Given the description of an element on the screen output the (x, y) to click on. 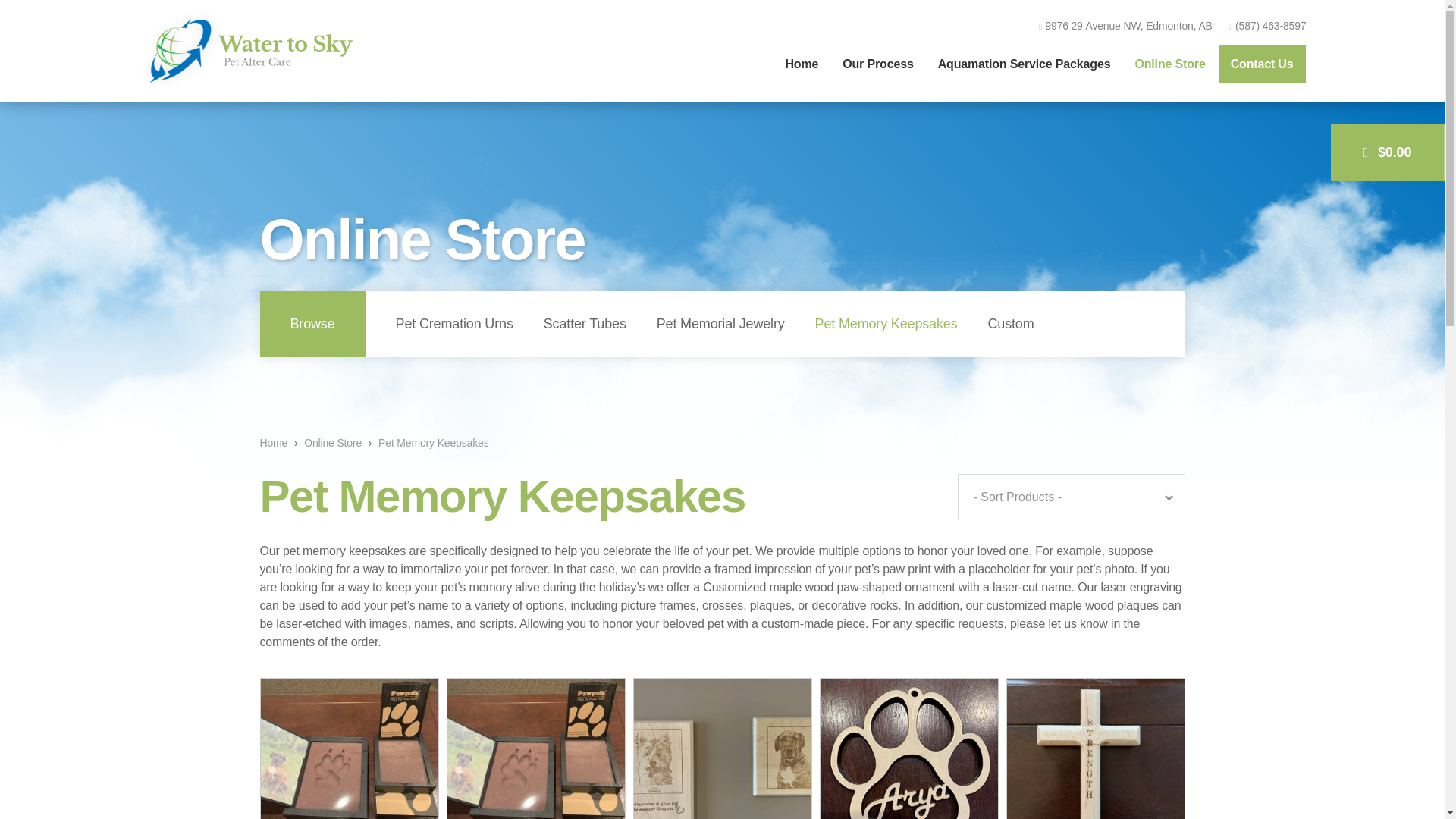
Pet Cremation Urns (454, 323)
Contact Us (1262, 64)
Pet Memory Keepsakes (885, 323)
Online Store (332, 442)
Pet Memorial Jewelry (720, 323)
Home (801, 63)
Our Process (877, 63)
Home (272, 442)
Online Store (1168, 63)
Custom (1010, 323)
Scatter Tubes (585, 323)
Aquamation Service Packages (1024, 63)
9976 29 Avenue NW, Edmonton, AB (1125, 26)
